Given the description of an element on the screen output the (x, y) to click on. 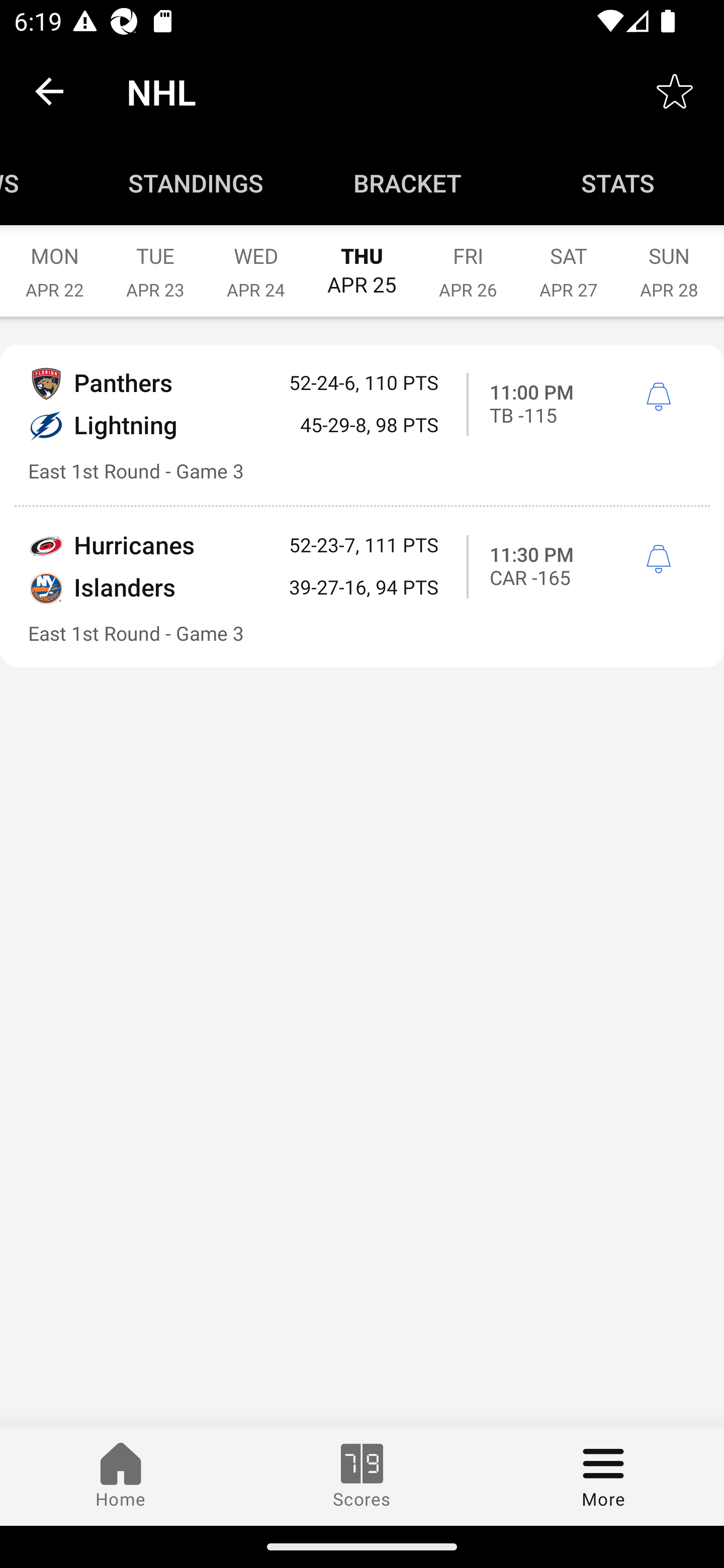
back.button (49, 90)
Favorite toggle (674, 90)
Standings STANDINGS (195, 183)
Bracket BRACKET (406, 183)
Stats STATS (618, 183)
MON APR 22 (54, 262)
TUE APR 23 (154, 262)
WED APR 24 (255, 262)
THU APR 25 (361, 261)
FRI APR 26 (467, 262)
SAT APR 27 (568, 262)
SUN APR 28 (669, 262)
í (658, 396)
í (658, 559)
Home (120, 1475)
Scores (361, 1475)
